Given the description of an element on the screen output the (x, y) to click on. 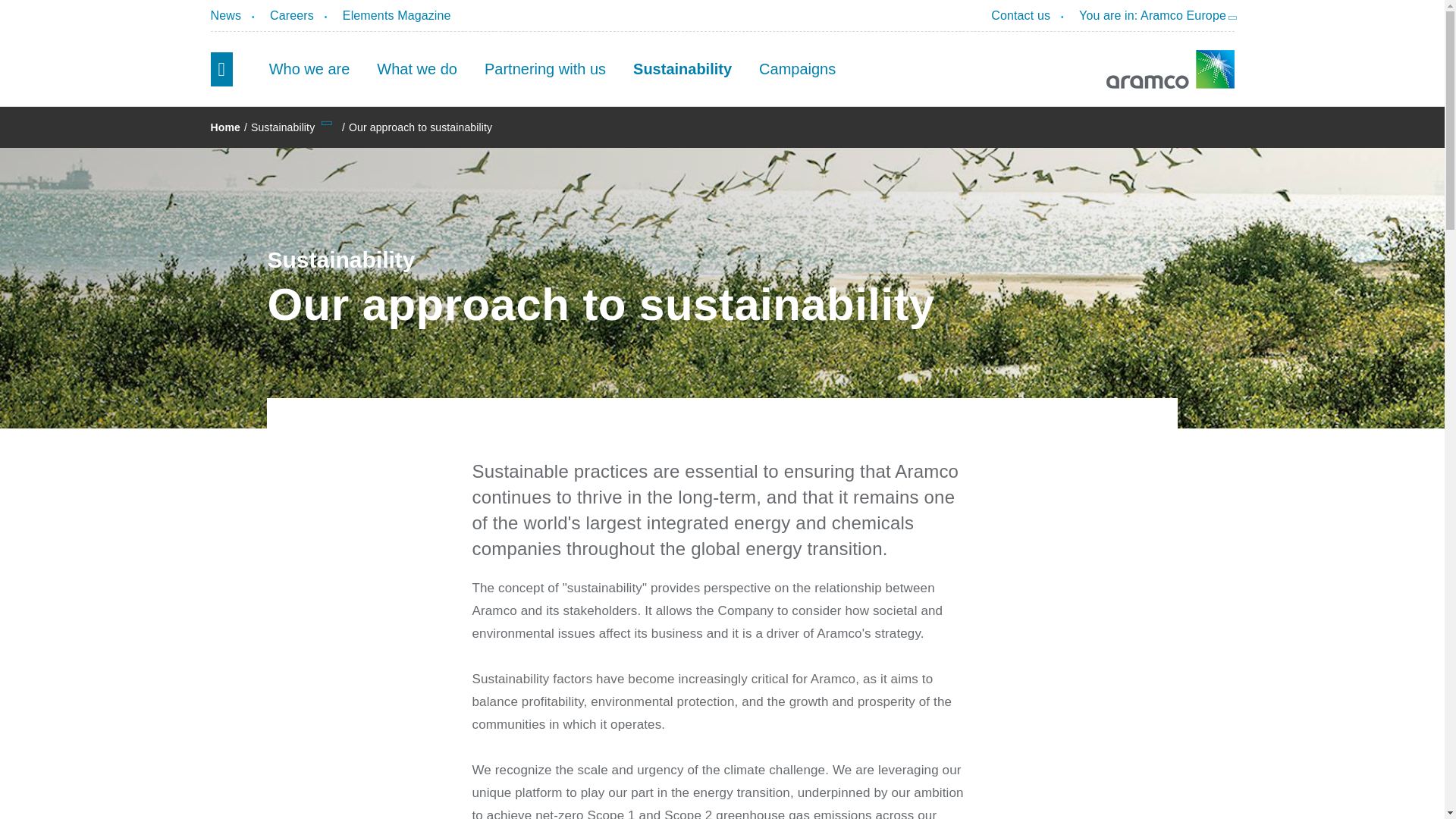
Contact us (1020, 15)
Elements Magazine (396, 15)
News (226, 15)
Who we are (310, 68)
You are in: Aramco Europe (1152, 17)
What we do (416, 68)
Careers (291, 15)
